Given the description of an element on the screen output the (x, y) to click on. 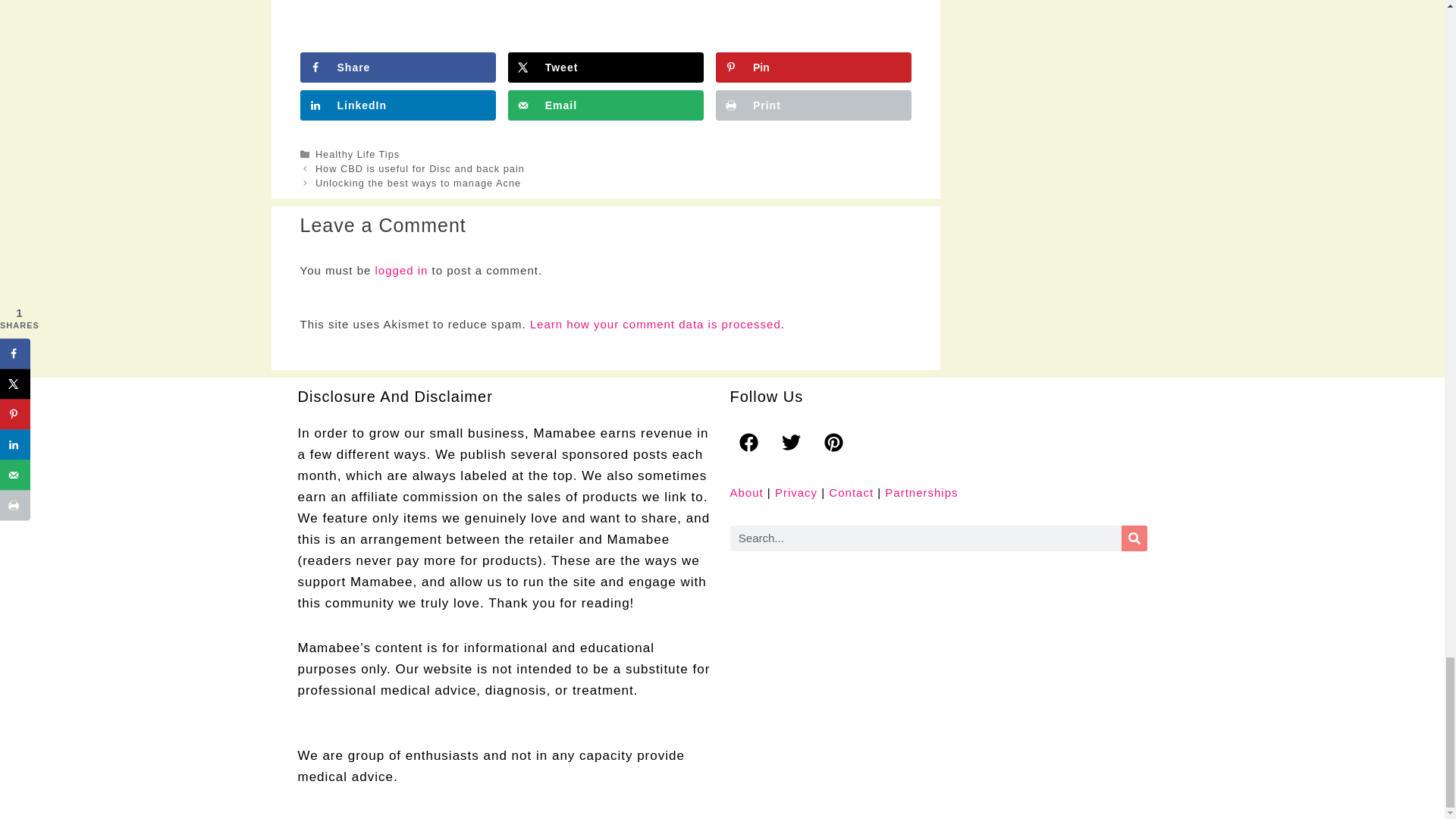
Share on X (605, 67)
Send over email (605, 105)
Share on LinkedIn (397, 105)
Print this webpage (813, 105)
Share on Facebook (397, 67)
Save to Pinterest (813, 67)
